Given the description of an element on the screen output the (x, y) to click on. 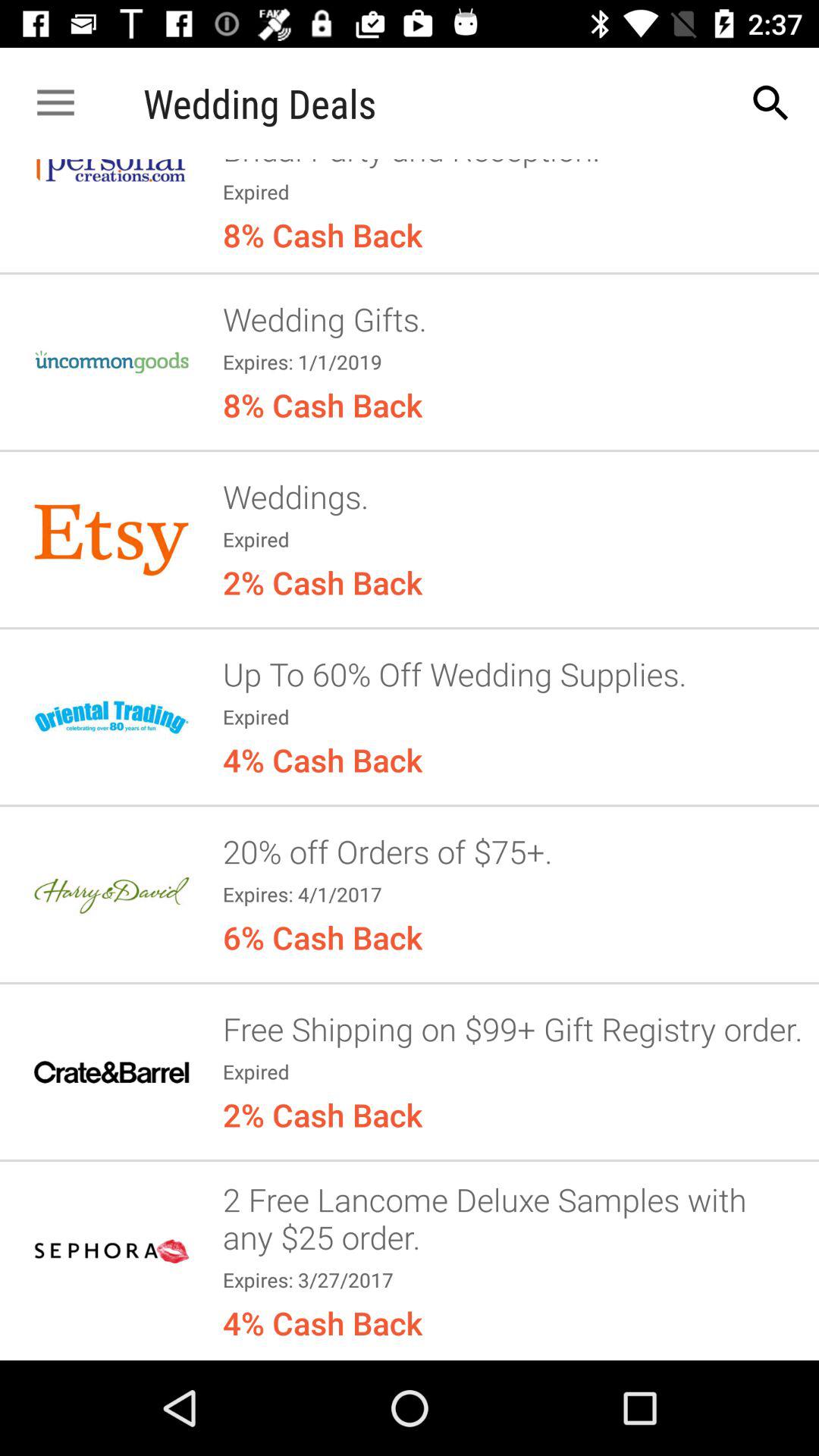
tap app next to wedding deals (55, 103)
